Given the description of an element on the screen output the (x, y) to click on. 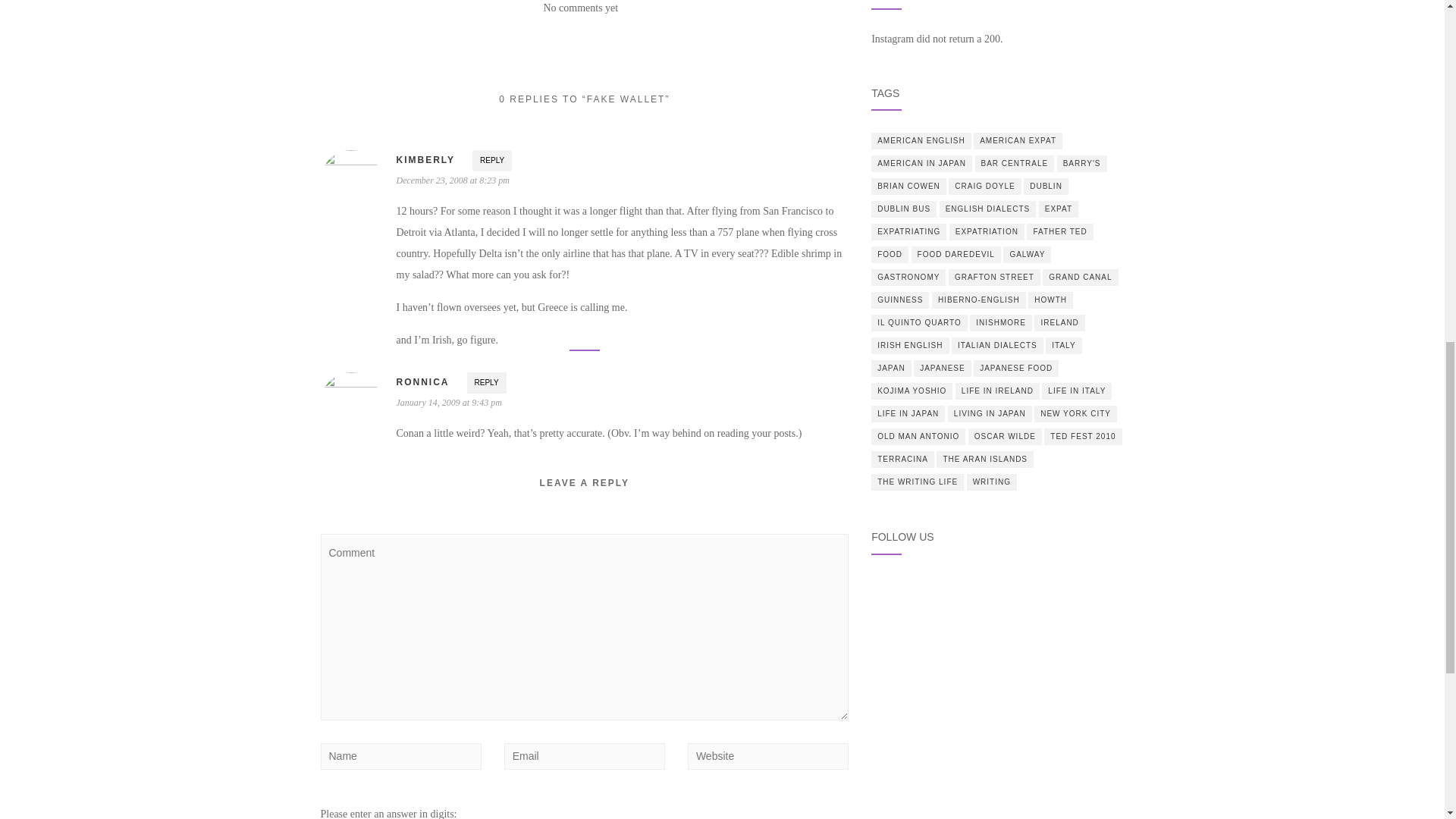
January 14, 2009 at 9:43 pm (448, 402)
BAR CENTRALE (1014, 163)
No comments yet (580, 7)
KIMBERLY (425, 159)
AMERICAN ENGLISH (920, 140)
REPLY (491, 160)
CRAIG DOYLE (984, 186)
REPLY (486, 382)
RONNICA (422, 381)
DUBLIN (1045, 186)
